Given the description of an element on the screen output the (x, y) to click on. 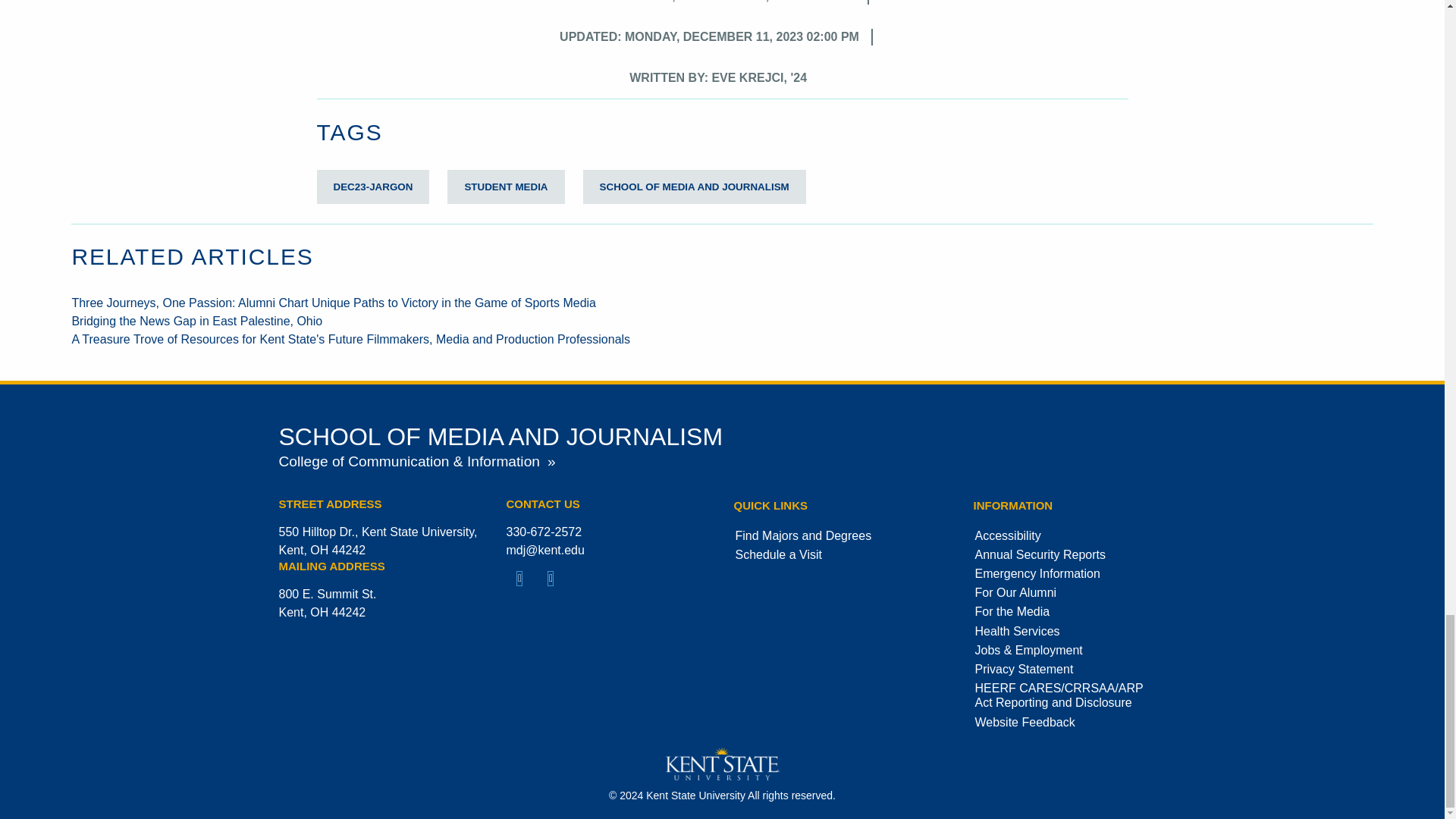
Instagram (550, 580)
Facebook (520, 579)
Instagram (550, 579)
Facebook (520, 580)
